Given the description of an element on the screen output the (x, y) to click on. 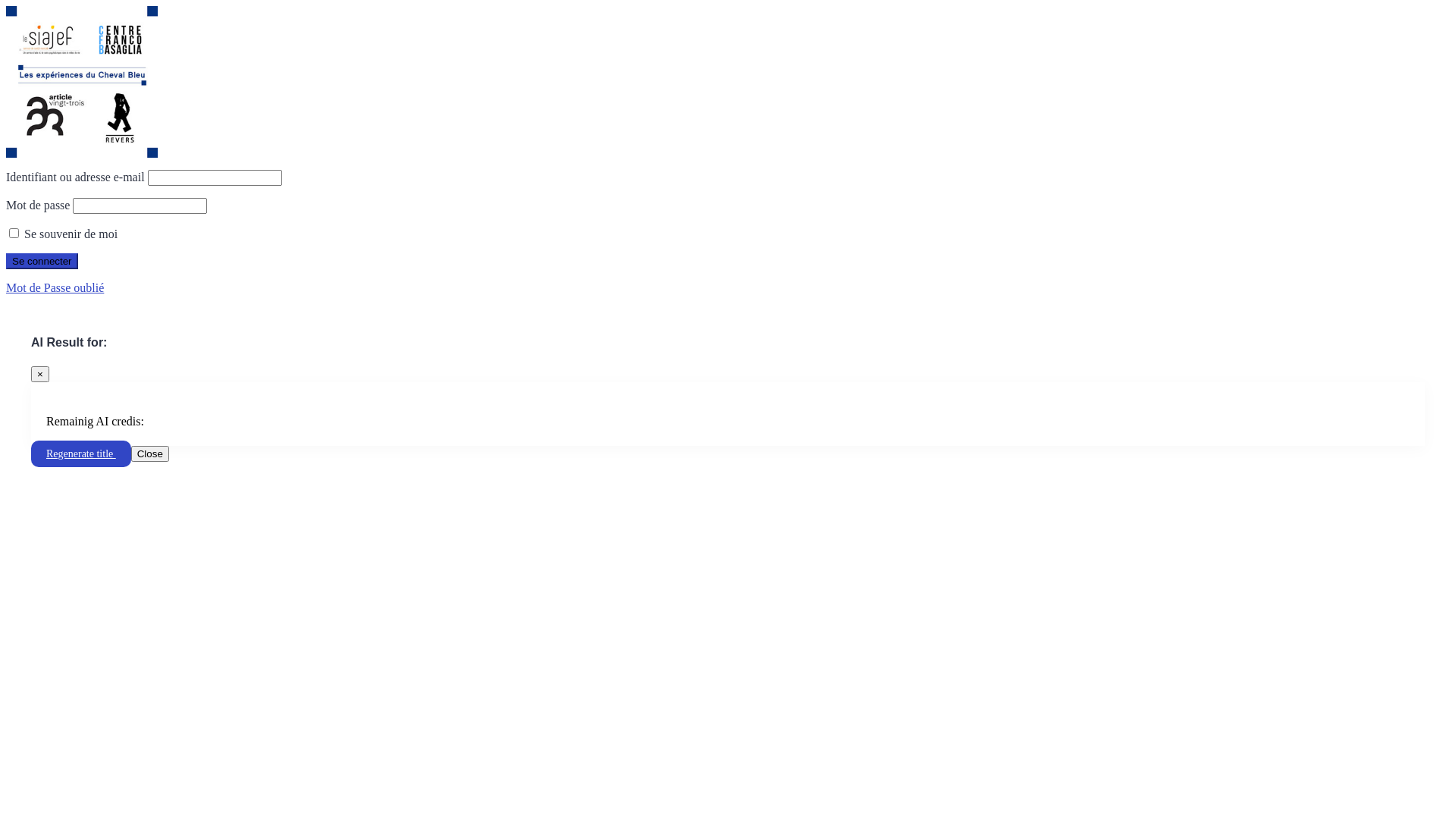
Se connecter Element type: text (42, 261)
Close Element type: text (150, 453)
Regenerate title Element type: text (81, 453)
